Given the description of an element on the screen output the (x, y) to click on. 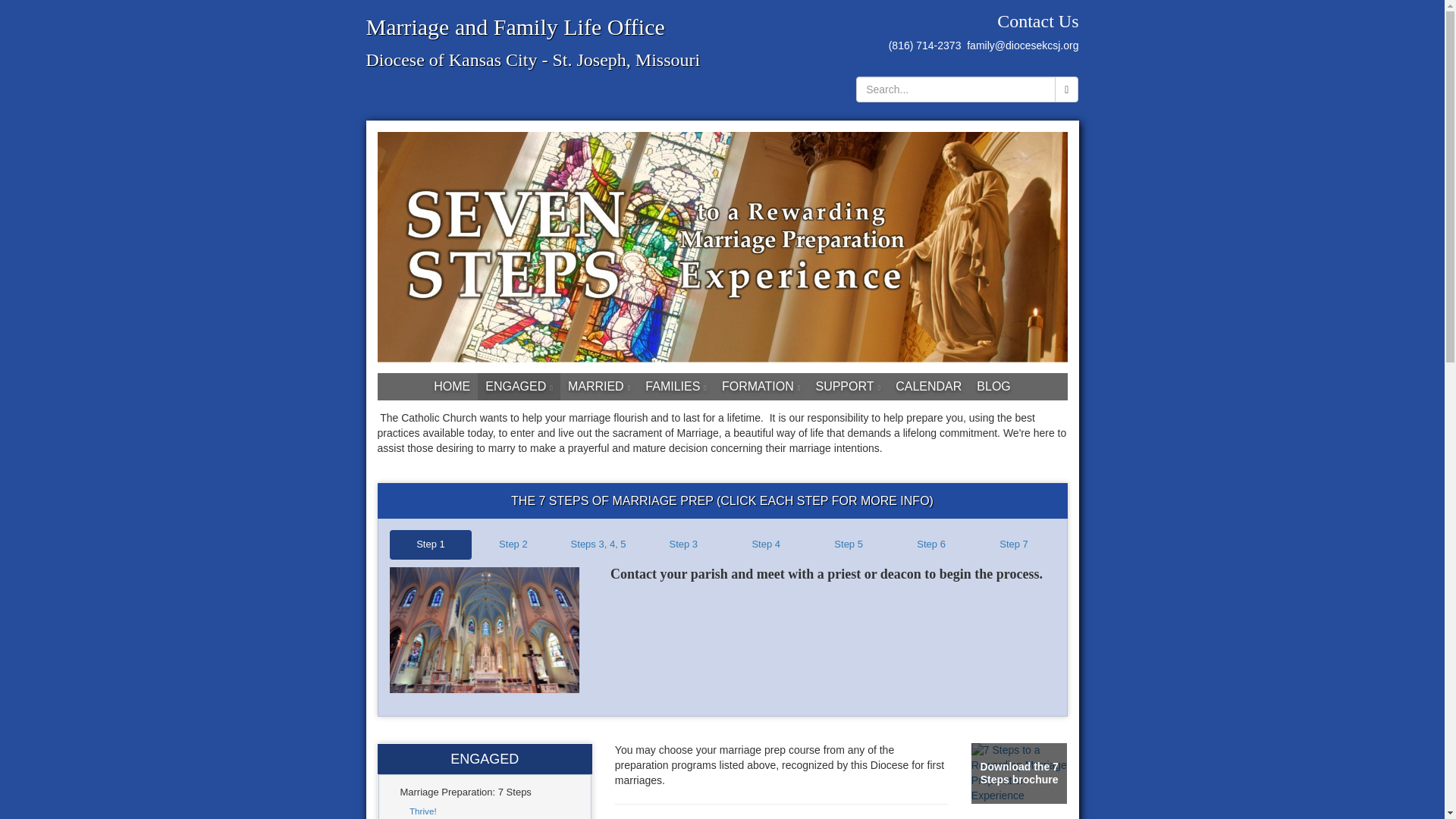
FAMILIES (675, 386)
Marriage and Family Life Office (514, 26)
HOME (451, 386)
ENGAGED (518, 386)
MARRIED (598, 386)
